Given the description of an element on the screen output the (x, y) to click on. 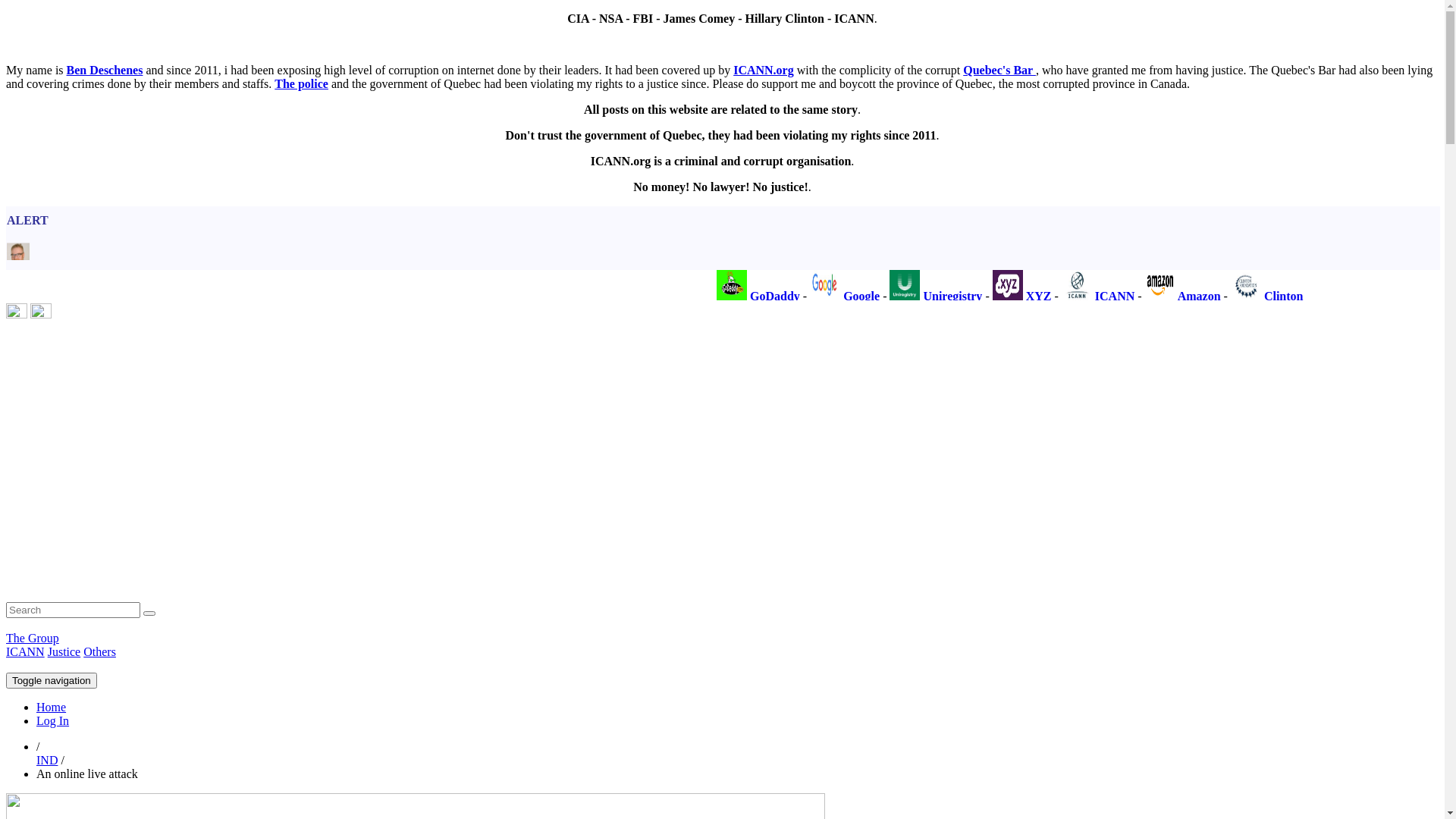
GoDaddy Element type: text (892, 295)
Uniregistry Element type: text (1067, 295)
ICANN.org Element type: text (763, 69)
Amazon Element type: text (1312, 295)
Robert Stanley People like Ralph are psychopaths Element type: text (143, 353)
Toggle navigation Element type: text (51, 680)
Clinton Element type: text (1394, 295)
The Group Element type: text (32, 637)
ICANN Element type: text (1228, 295)
Others Element type: text (99, 651)
Google Element type: text (977, 295)
Randy Maugans How I got caught-up in subhost scamming Element type: text (166, 477)
Advertisement Element type: hover (461, 441)
IND Element type: text (46, 759)
XYZ Element type: text (1153, 295)
ICANN Element type: text (25, 651)
Home Element type: text (50, 706)
Ben Deschenes Element type: text (104, 69)
Log In Element type: text (52, 720)
The police Element type: text (301, 83)
Justice Element type: text (64, 651)
Quebec's Bar Element type: text (999, 69)
Kerry Cassidy He harass you in many of his videos! Element type: text (148, 415)
